Given the description of an element on the screen output the (x, y) to click on. 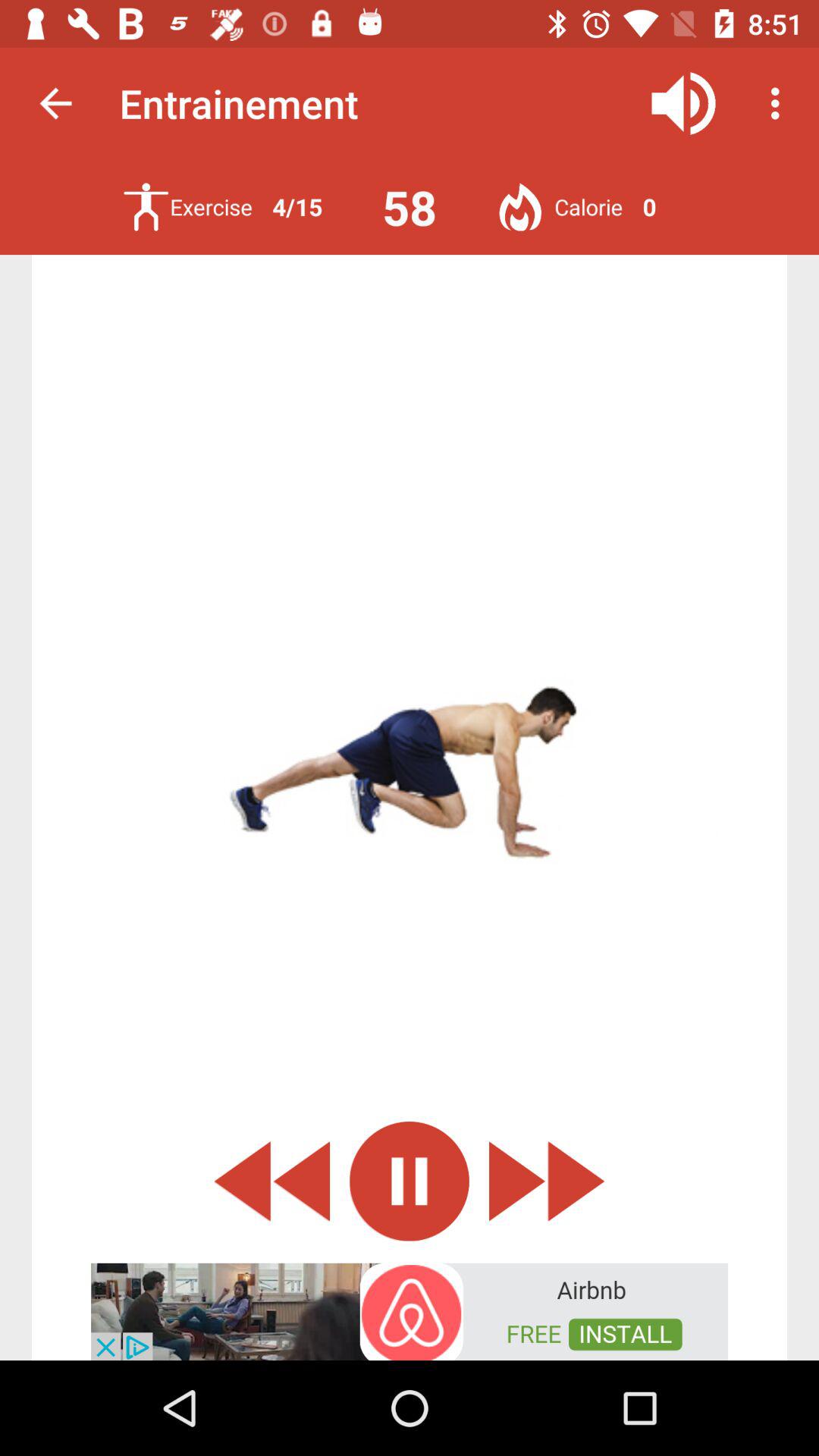
advertisement (409, 1310)
